Given the description of an element on the screen output the (x, y) to click on. 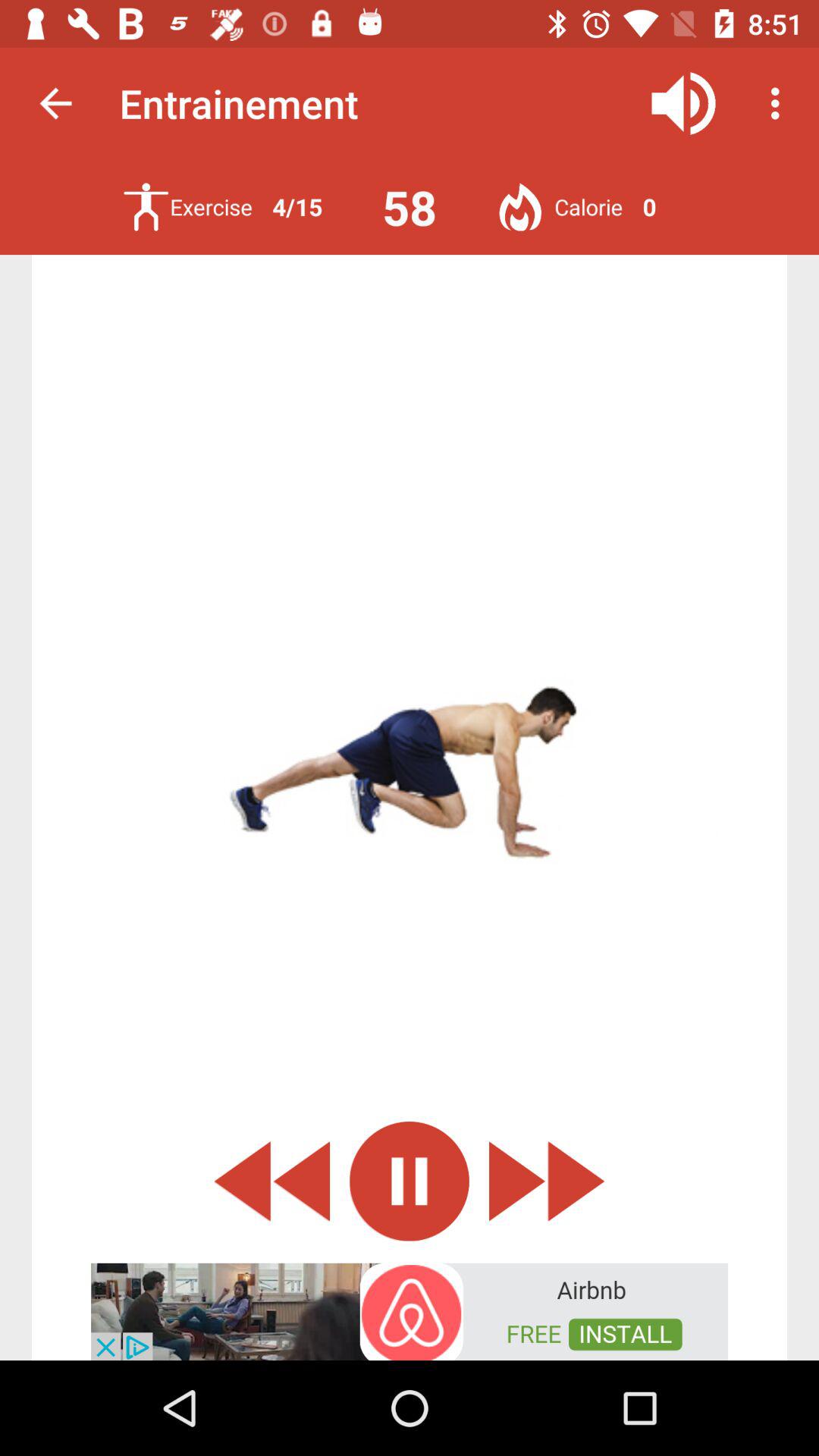
advertisement (409, 1310)
